Given the description of an element on the screen output the (x, y) to click on. 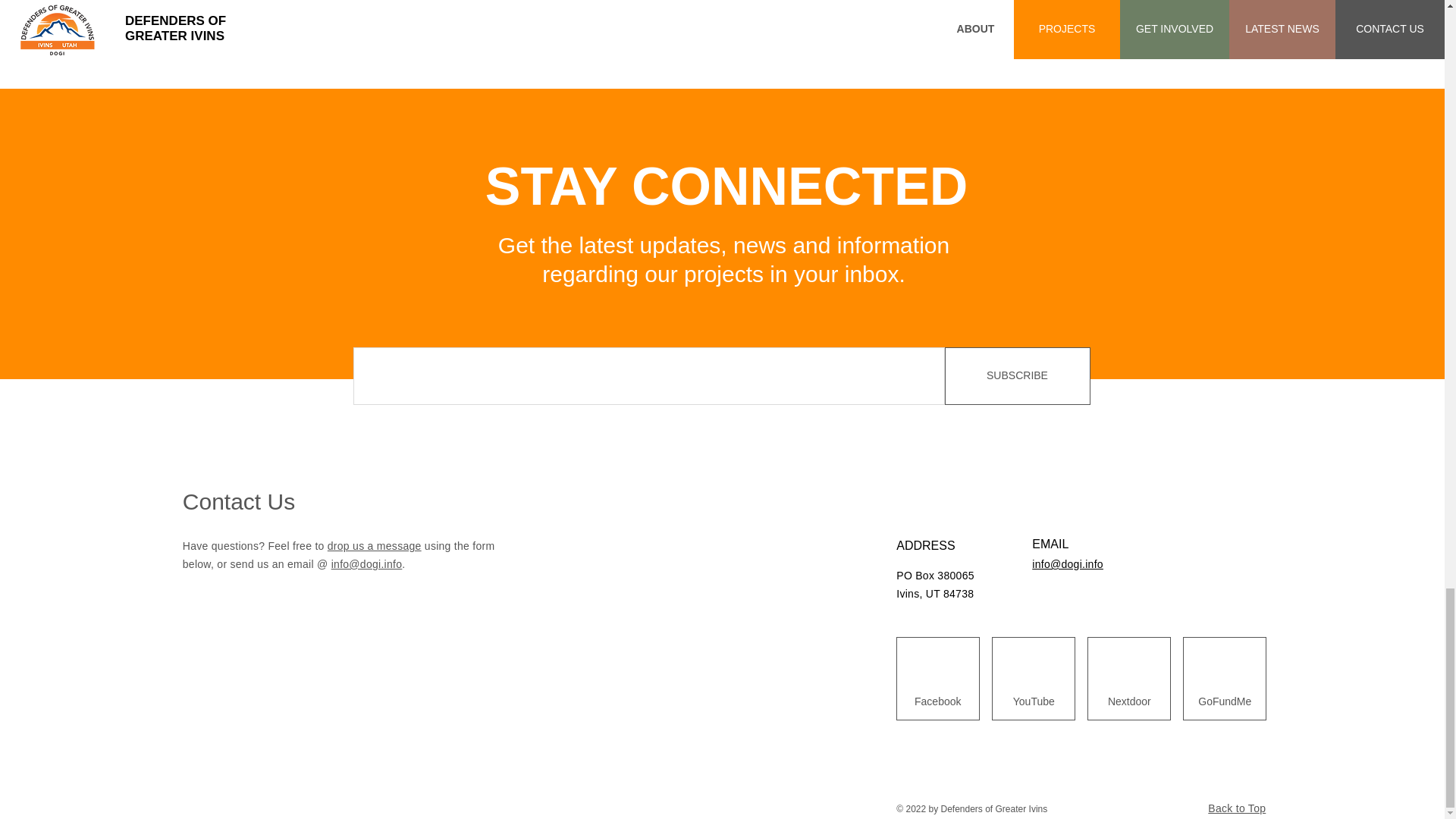
Post not marked as liked (558, 32)
0 (440, 32)
Contact Us (239, 501)
0 (931, 32)
Facebook (937, 701)
drop us a message (374, 545)
SUBSCRIBE (1017, 375)
YouTube (1032, 701)
0 (800, 47)
